Given the description of an element on the screen output the (x, y) to click on. 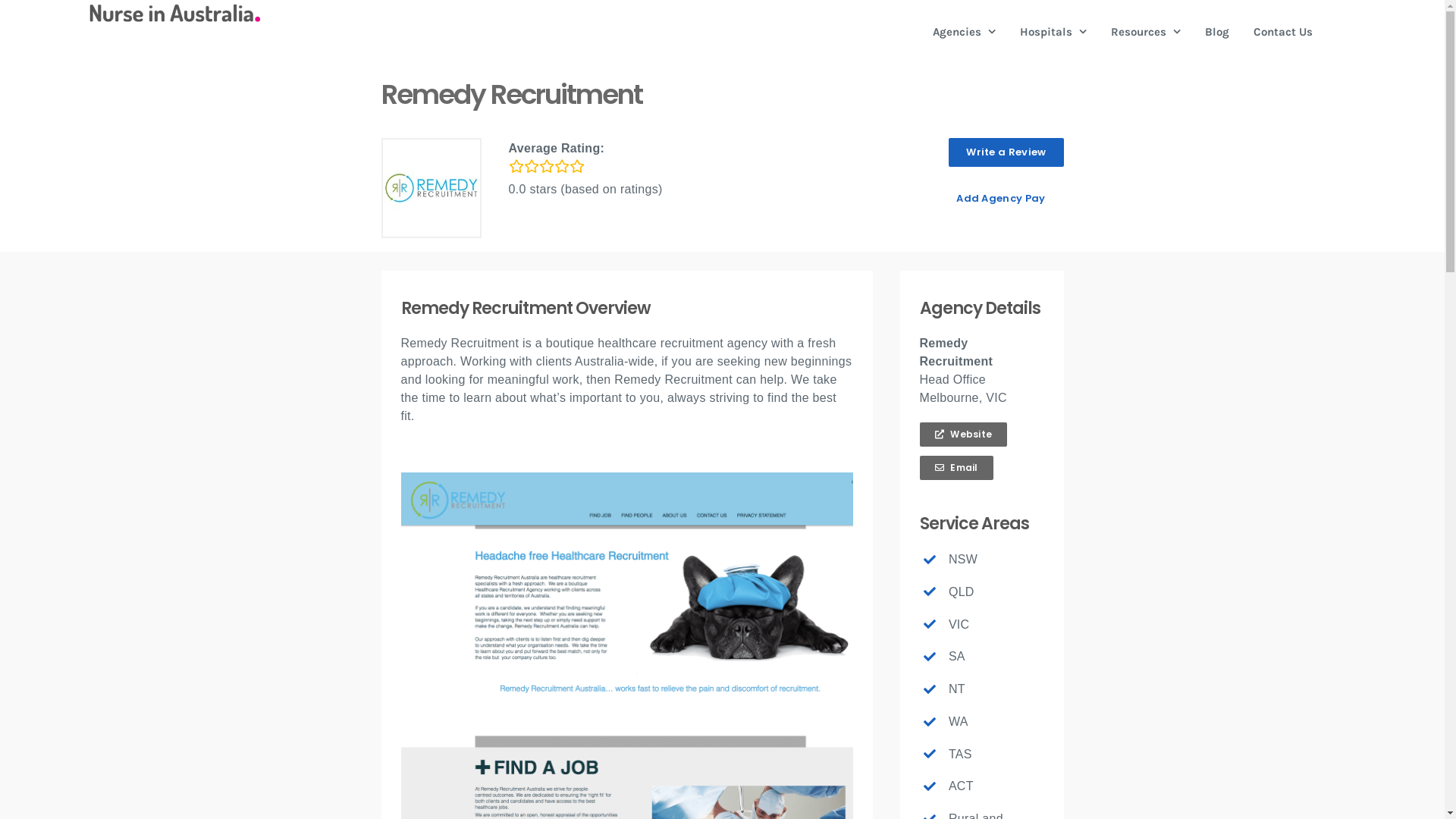
Contact Us Element type: text (1281, 31)
Hospitals Element type: text (1052, 31)
Add Agency Pay Element type: text (1000, 198)
Blog Element type: text (1216, 31)
Write a Review Element type: text (1005, 152)
Agencies Element type: text (963, 31)
Website Element type: text (963, 433)
remedy-logo-square Element type: hover (430, 187)
Resources Element type: text (1144, 31)
Email Element type: text (955, 467)
